Given the description of an element on the screen output the (x, y) to click on. 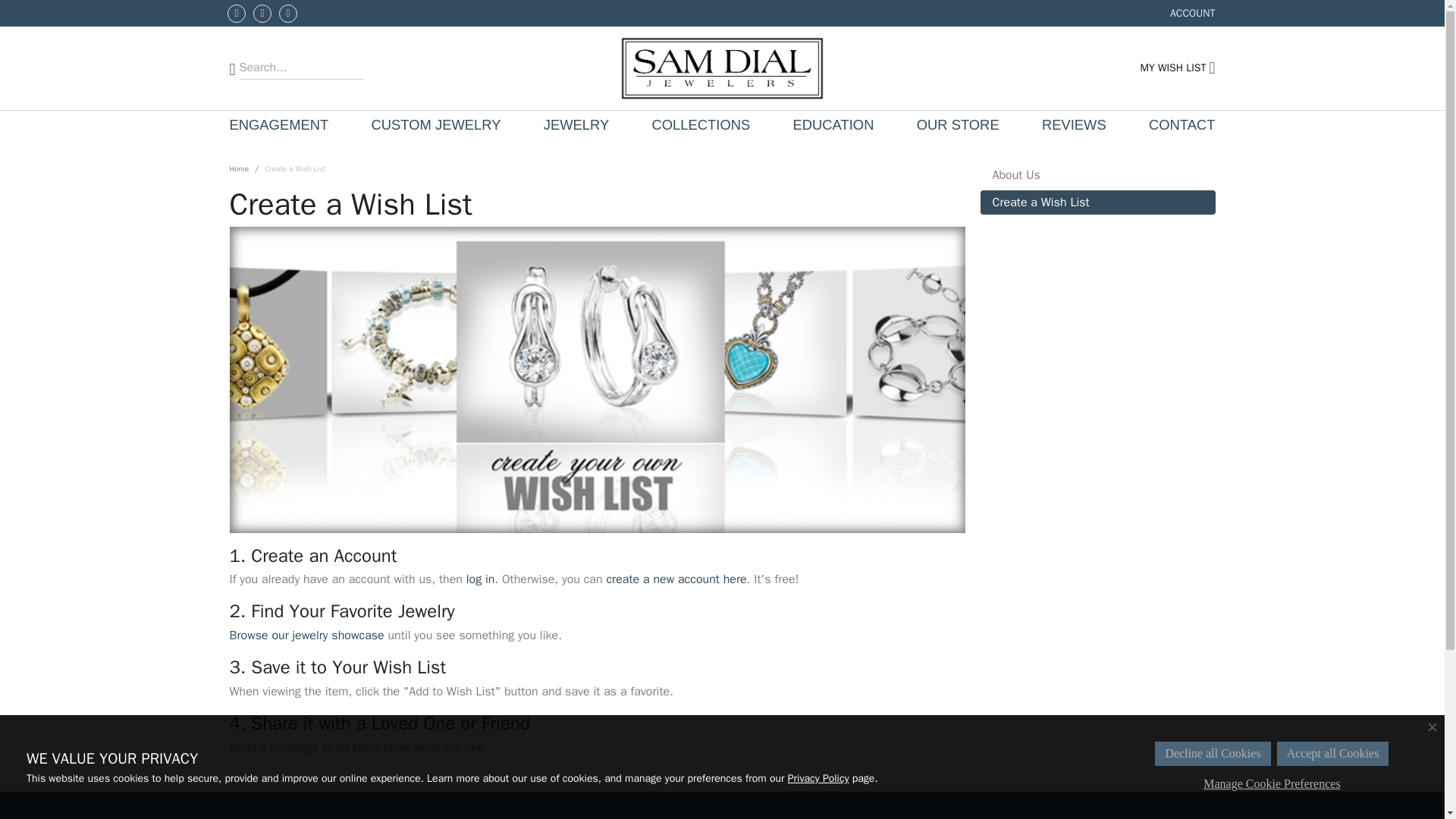
ENGAGEMENT (1192, 13)
Skip to main content (1177, 67)
Pin us on Pinterest (278, 124)
Like us on Facebook (7, 3)
JEWELRY (288, 13)
CUSTOM JEWELRY (236, 13)
Follow us on instagram (576, 124)
